Given the description of an element on the screen output the (x, y) to click on. 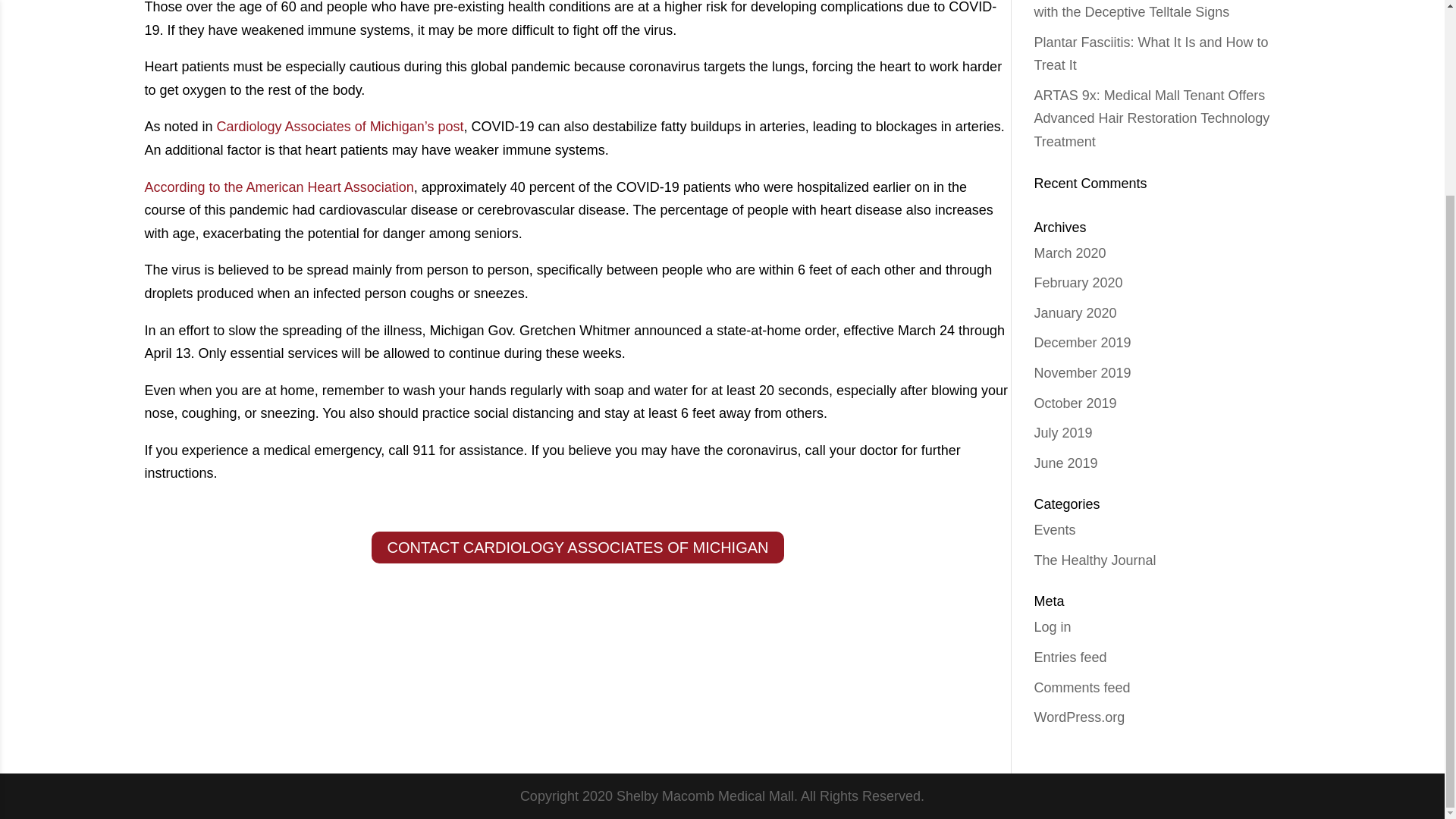
January 2020 (1074, 313)
According to the American Heart Association (278, 186)
March 2020 (1069, 253)
WordPress.org (1079, 717)
Events (1054, 529)
February 2020 (1077, 282)
June 2019 (1065, 462)
Log in (1052, 626)
The Healthy Journal (1094, 560)
Comments feed (1082, 687)
October 2019 (1074, 403)
November 2019 (1082, 372)
Plantar Fasciitis: What It Is and How to Treat It (1150, 54)
